Given the description of an element on the screen output the (x, y) to click on. 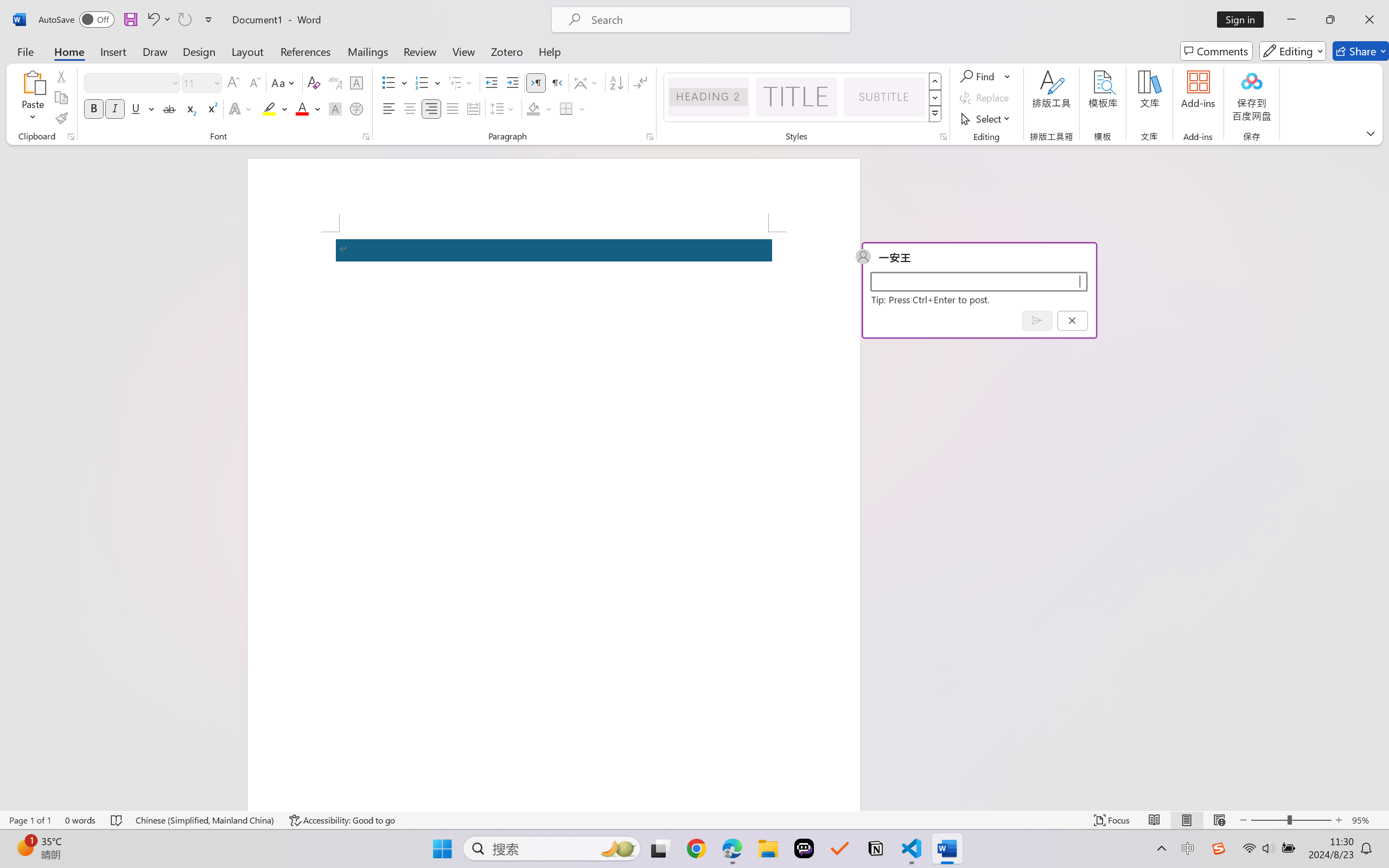
Undo (158, 19)
Shading No Color (533, 108)
